Given the description of an element on the screen output the (x, y) to click on. 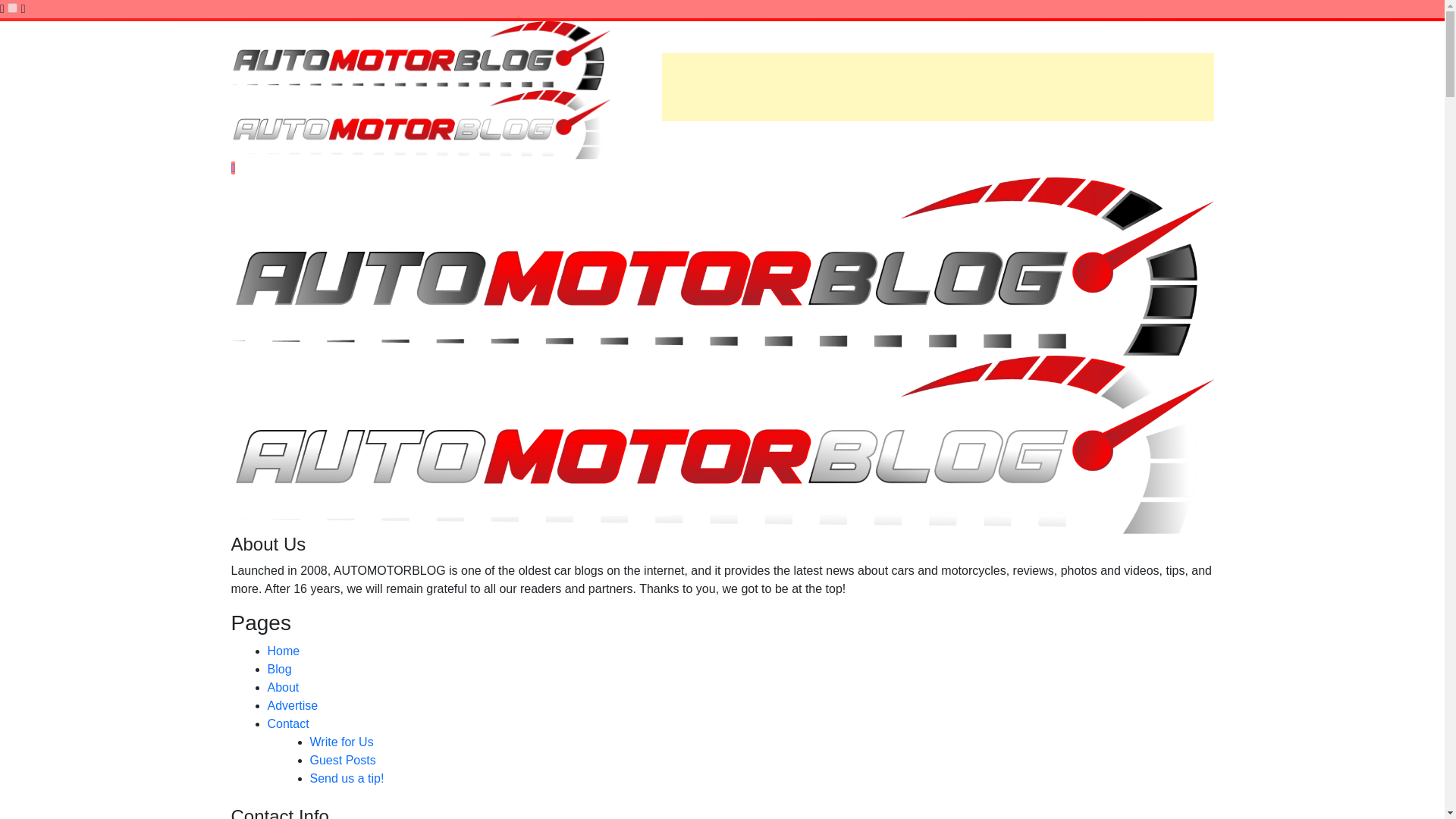
Send us a tip! (346, 778)
Home (282, 650)
Blog (278, 668)
Contact (287, 723)
Guest Posts (341, 759)
About (282, 686)
Write for Us (340, 741)
on (12, 8)
Advertise (291, 705)
